Given the description of an element on the screen output the (x, y) to click on. 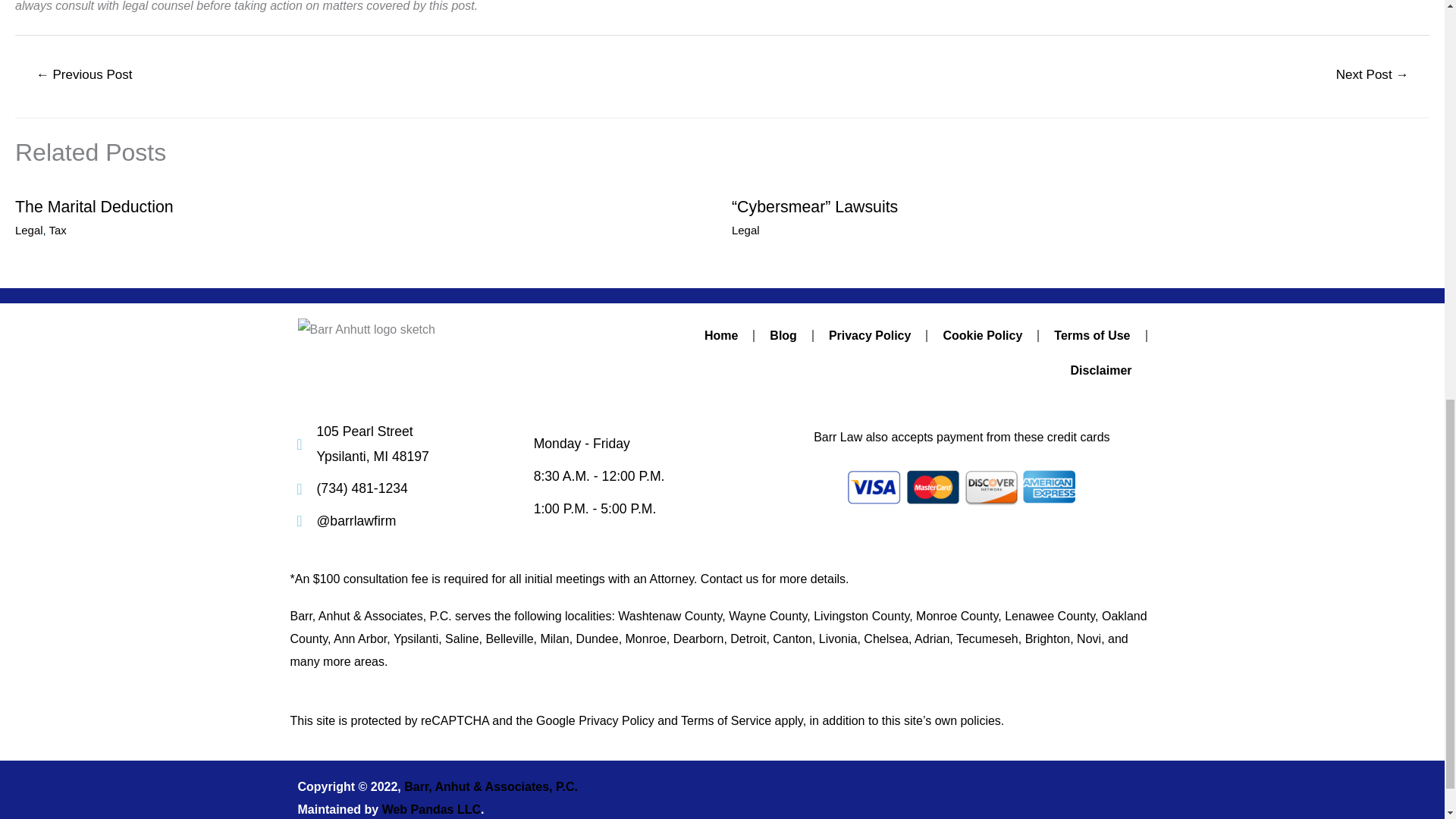
Privacy Policy (615, 720)
Blog (783, 335)
The Marital Deduction (93, 207)
Disclaimer (1101, 370)
Terms of Service (726, 720)
Cookie Policy (981, 335)
Legal (746, 229)
Terms of Use (1091, 335)
Legal (28, 229)
Tax (57, 229)
Home (720, 335)
Privacy Policy (869, 335)
Web Pandas LLC (430, 809)
